Given the description of an element on the screen output the (x, y) to click on. 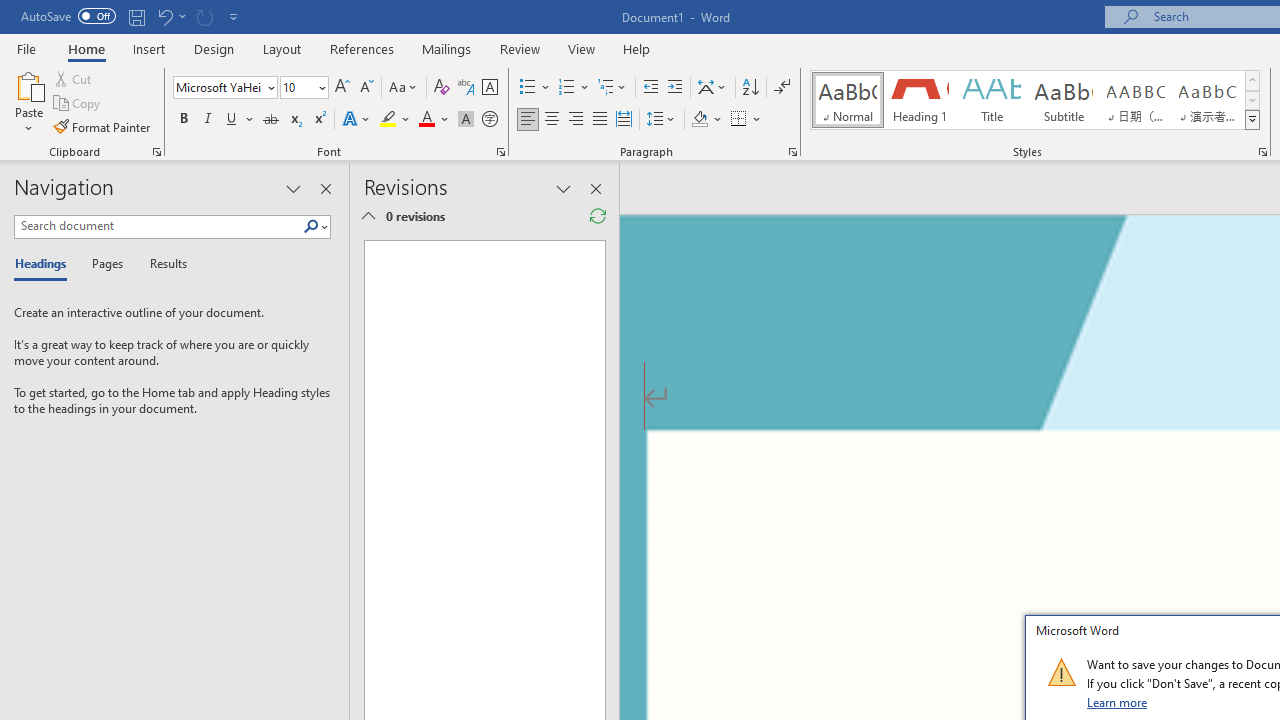
Search document (157, 226)
Italic (207, 119)
Change Case (404, 87)
Bullets (535, 87)
Distributed (623, 119)
Paragraph... (792, 151)
Align Right (575, 119)
Save (136, 15)
Superscript (319, 119)
Design (214, 48)
Numbering (573, 87)
Underline (232, 119)
AutomationID: QuickStylesGallery (1035, 99)
Undo Paragraph Alignment (164, 15)
Increase Indent (675, 87)
